Given the description of an element on the screen output the (x, y) to click on. 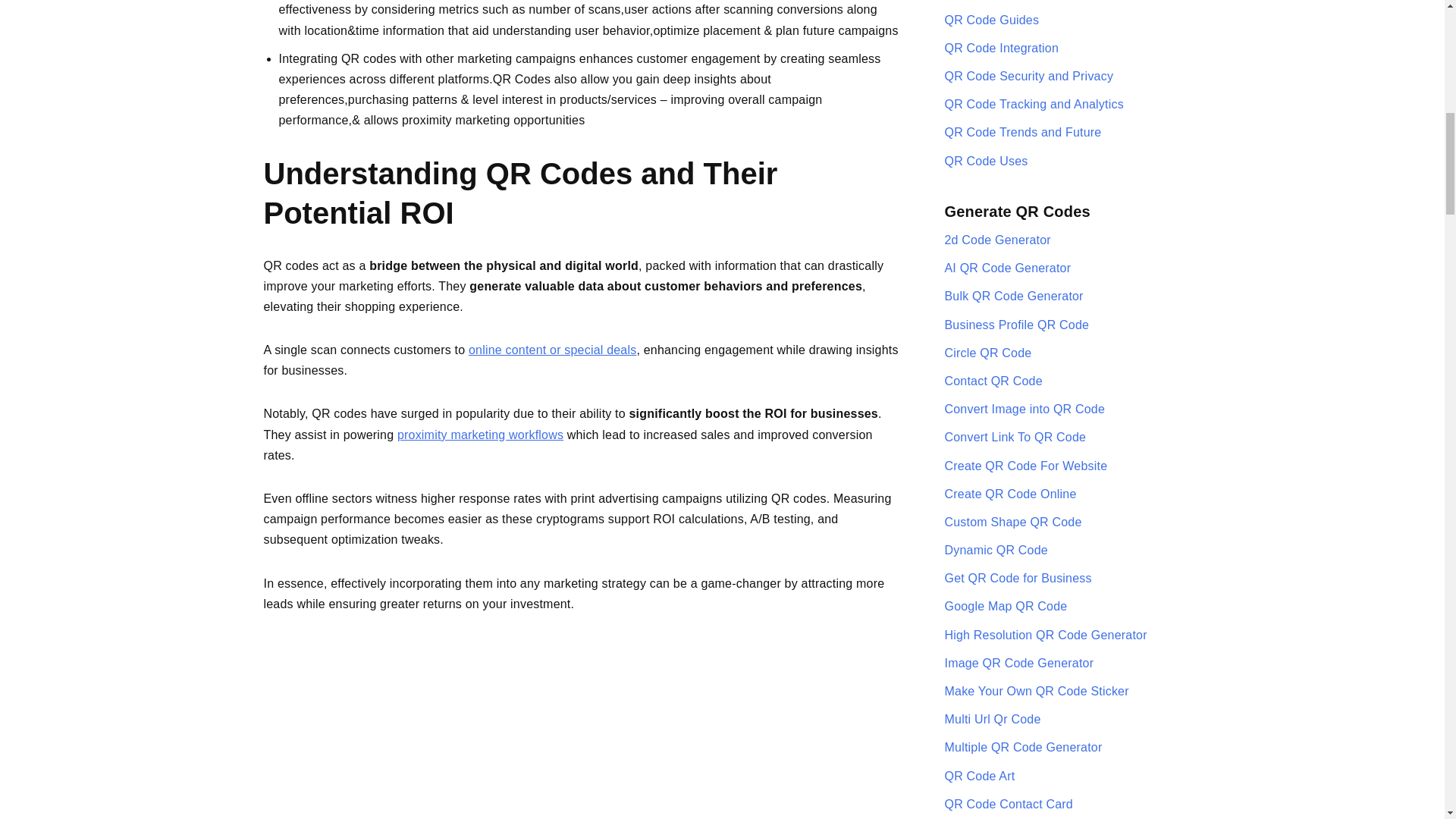
online content or special deals (552, 349)
proximity marketing workflows (480, 434)
